Given the description of an element on the screen output the (x, y) to click on. 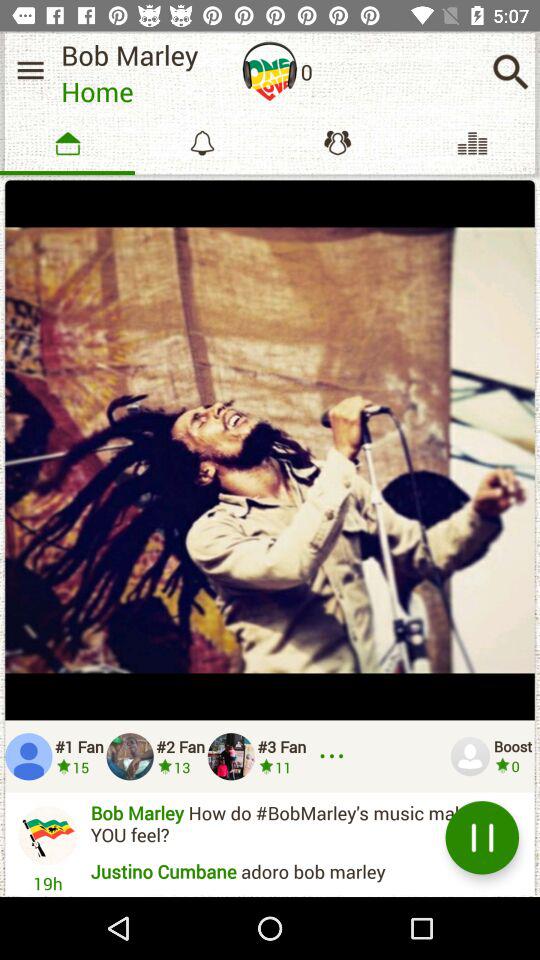
turn on the item next to ibrahim usman am icon (482, 837)
